Given the description of an element on the screen output the (x, y) to click on. 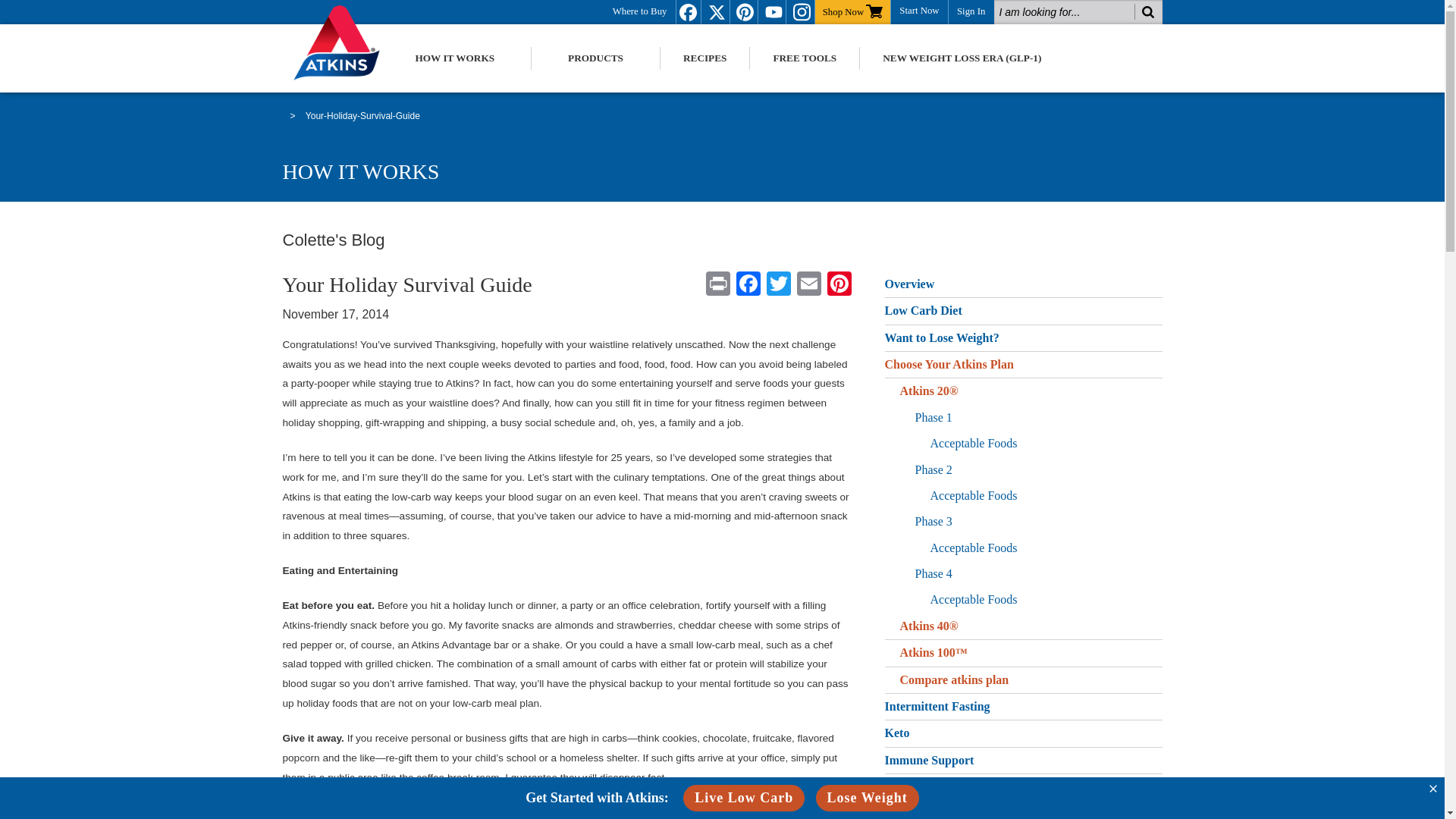
Print (716, 285)
Sign In (970, 11)
Where to Buy (639, 11)
Start Now (919, 9)
Facebook (747, 285)
HOW IT WORKS (454, 57)
RECIPES (705, 57)
Atkins (344, 42)
FREE TOOLS (804, 57)
PRODUCTS (595, 57)
Email (808, 285)
Twitter (777, 285)
Pinterest (838, 285)
Shop Now (852, 10)
